Given the description of an element on the screen output the (x, y) to click on. 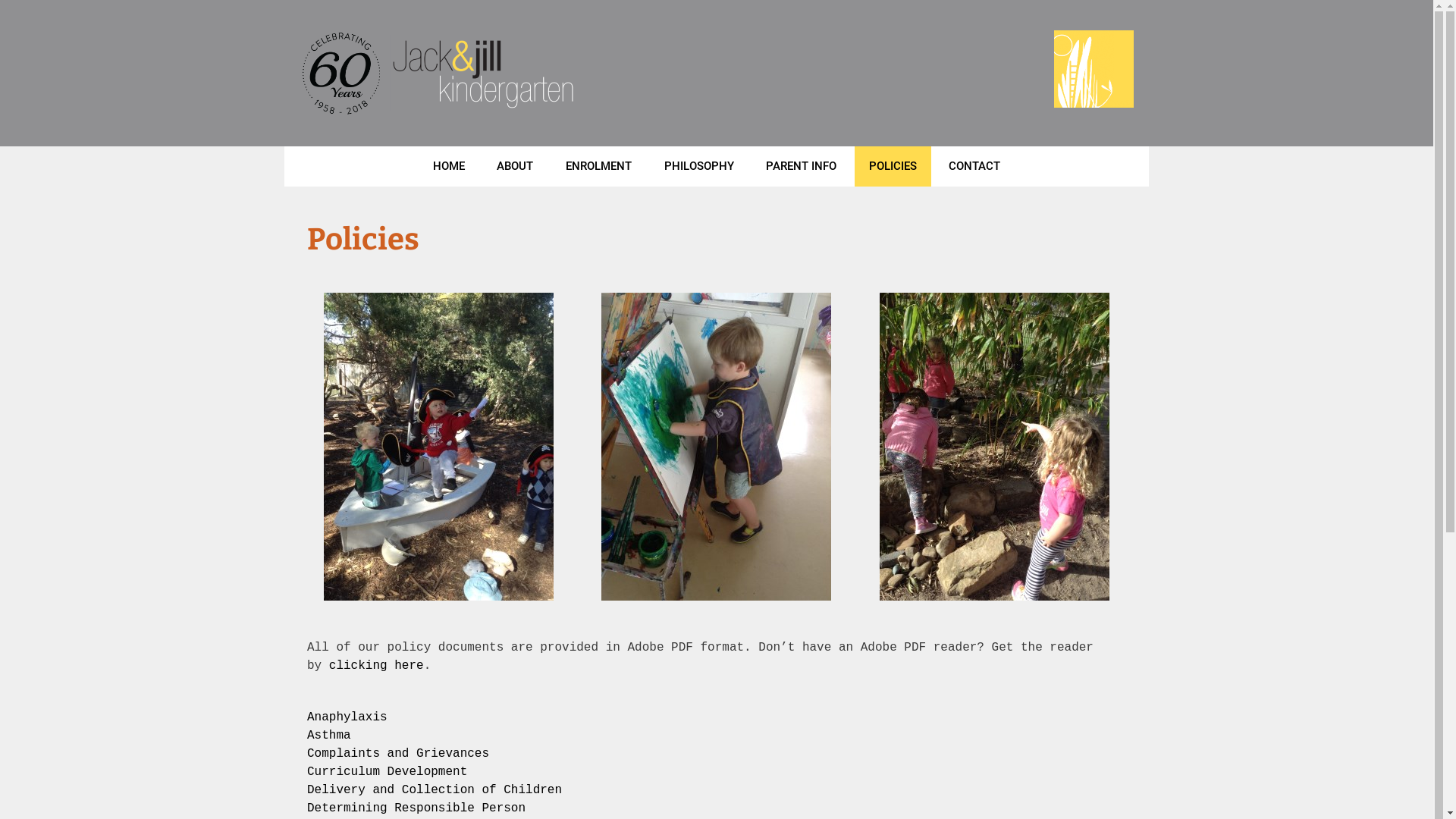
POLICIES Element type: text (892, 166)
Curriculum Development Element type: text (387, 771)
Complaints and Grievances Element type: text (398, 753)
PHILOSOPHY Element type: text (698, 166)
Asthma Element type: text (329, 735)
PARENT INFO Element type: text (800, 166)
clicking here Element type: text (376, 665)
ENROLMENT Element type: text (598, 166)
Delivery and Collection of Children Element type: text (434, 790)
Anaphylaxis Element type: text (347, 717)
HOME Element type: text (448, 166)
CONTACT Element type: text (974, 166)
Determining Responsible Person Element type: text (416, 808)
ABOUT Element type: text (514, 166)
